Given the description of an element on the screen output the (x, y) to click on. 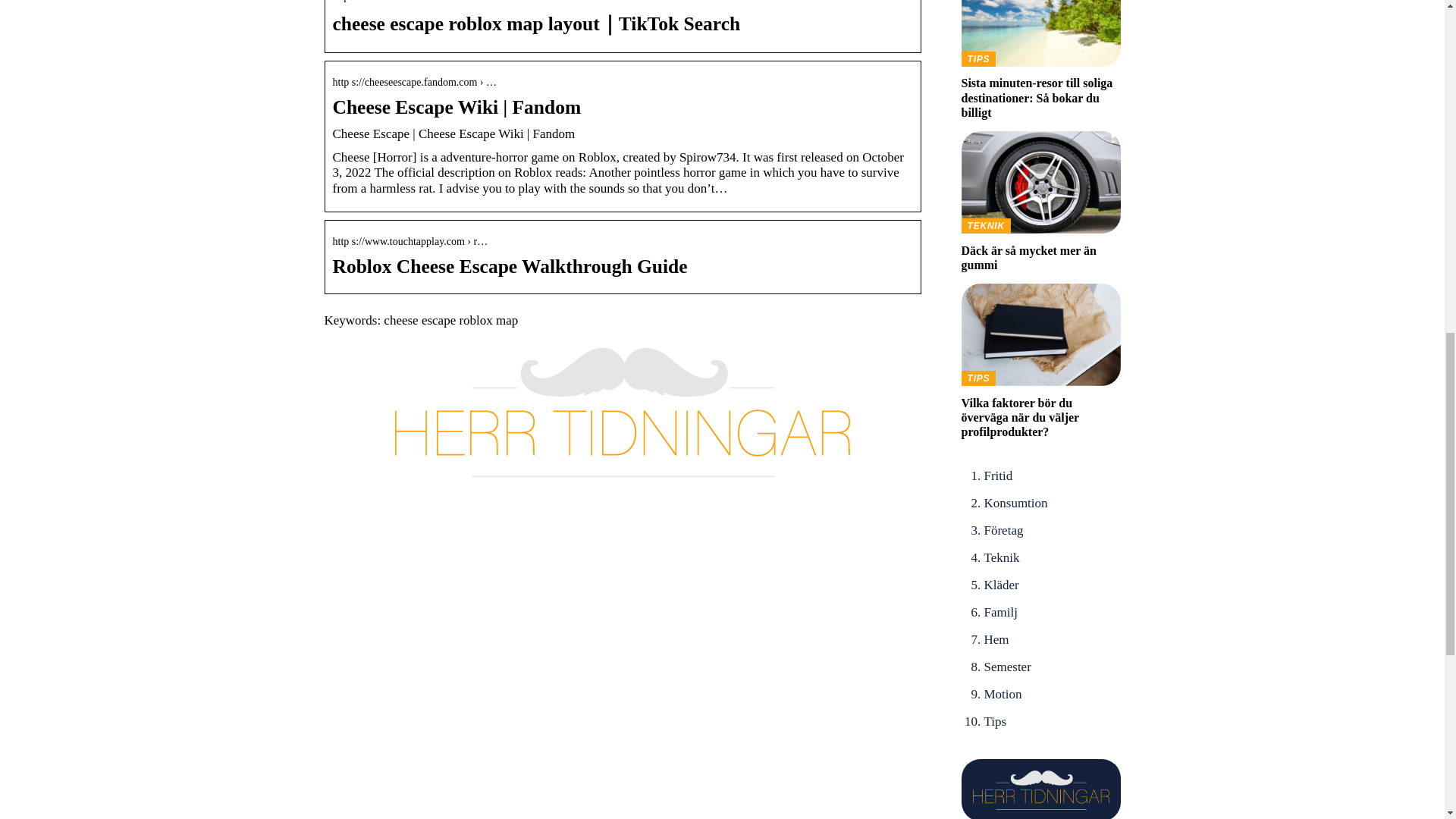
Hem (996, 639)
Familj (1000, 612)
Fritid (998, 475)
Semester (1007, 667)
Motion (1003, 694)
Teknik (1002, 557)
Konsumtion (1016, 503)
Tips (995, 721)
